Given the description of an element on the screen output the (x, y) to click on. 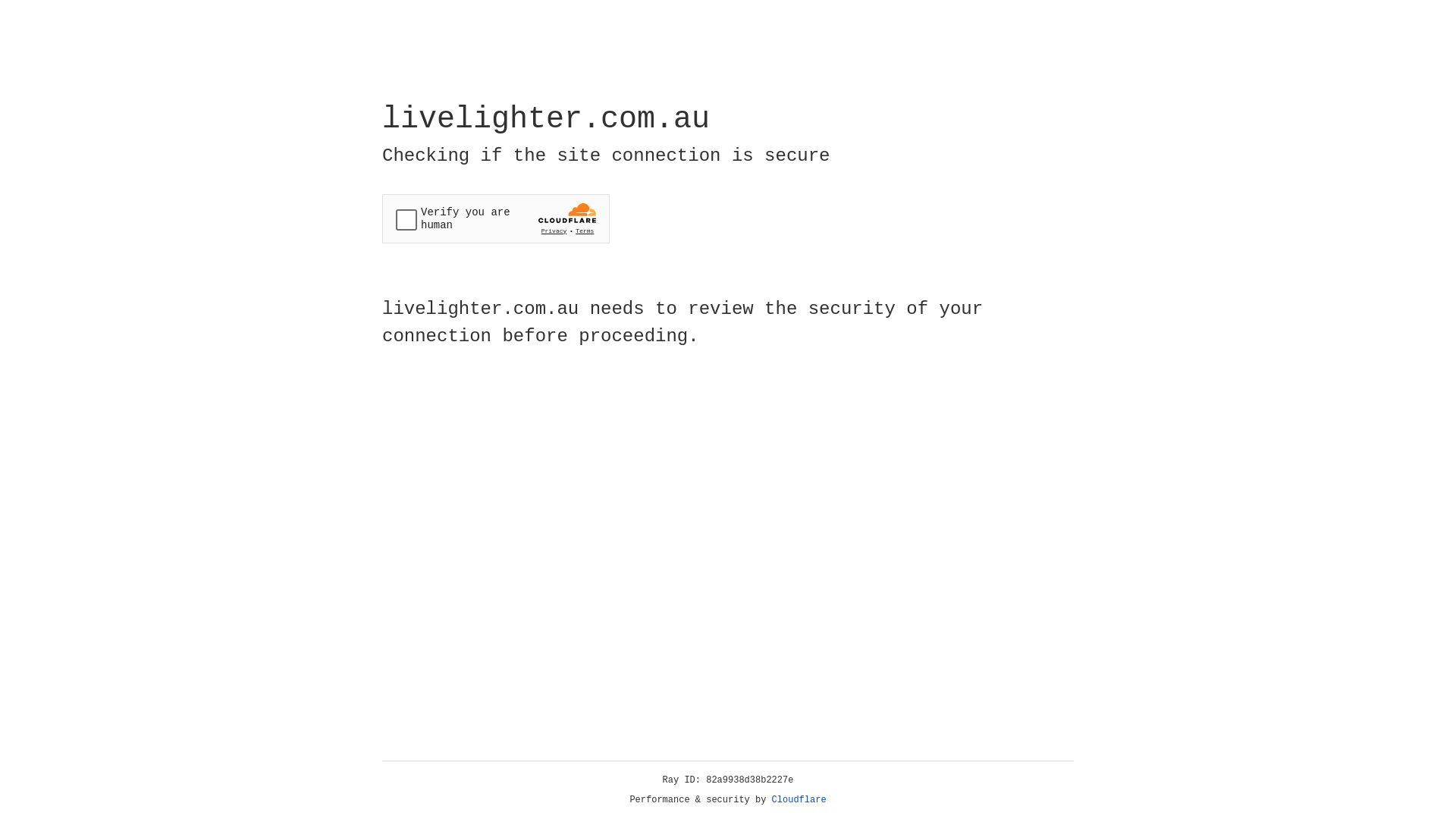
Cloudflare Element type: text (798, 799)
Widget containing a Cloudflare security challenge Element type: hover (495, 218)
